Given the description of an element on the screen output the (x, y) to click on. 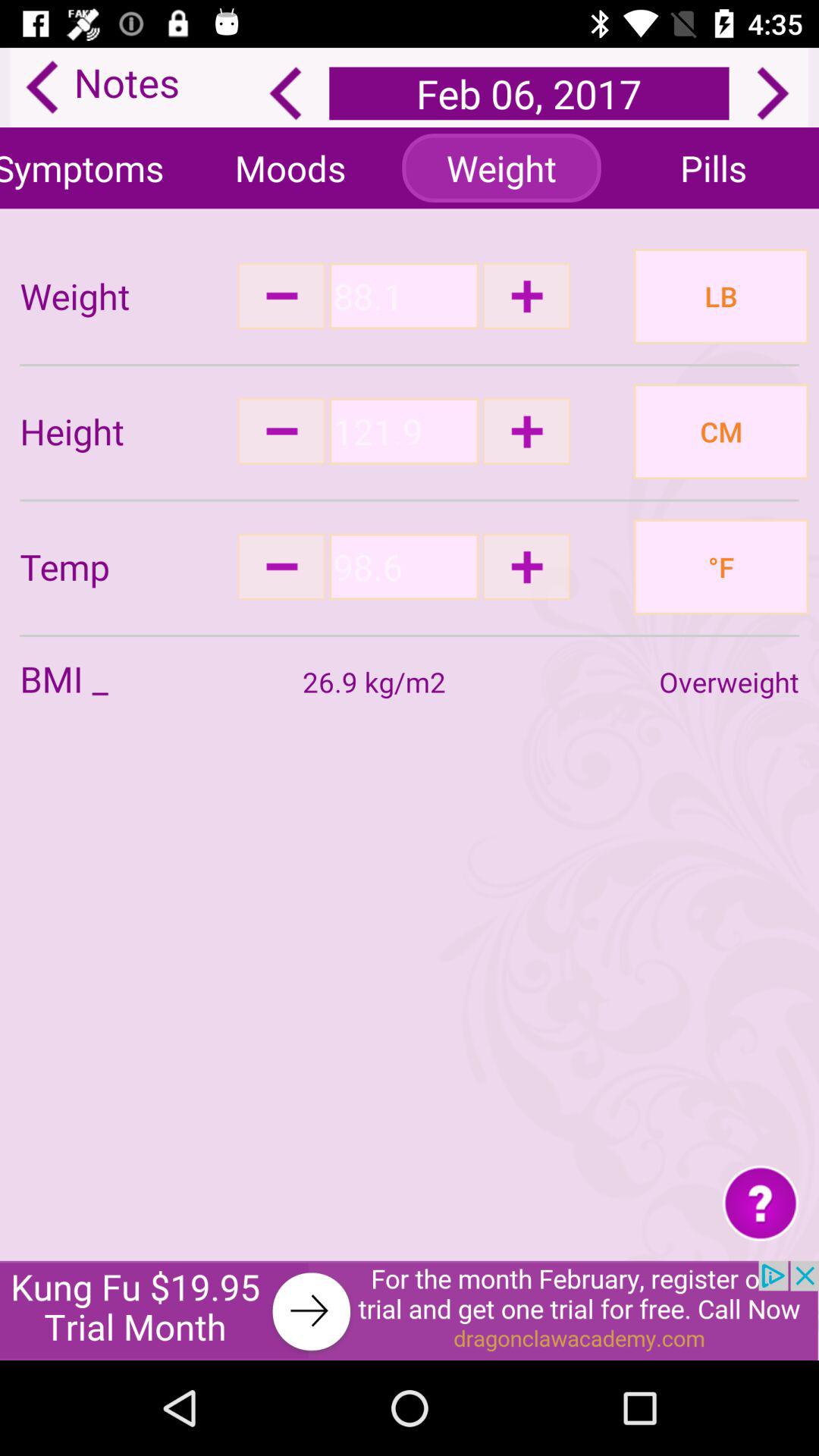
help (760, 1202)
